Given the description of an element on the screen output the (x, y) to click on. 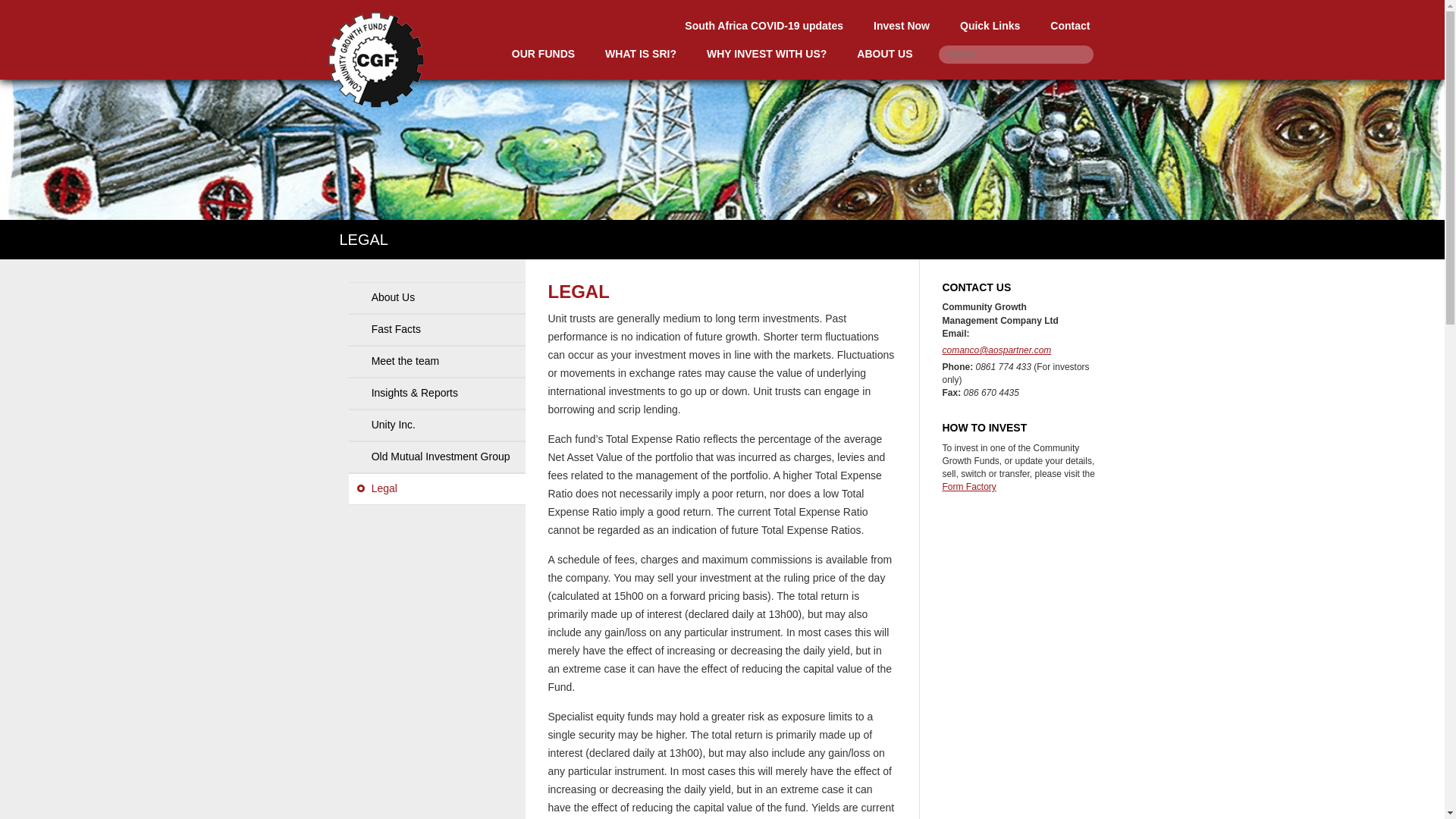
Quick Links (989, 25)
Contact (1070, 25)
Our Funds (542, 53)
Contact (1070, 25)
WHAT IS SRI? (640, 53)
Invest Now (901, 25)
What is SRI? (640, 53)
South Africa COVID-19 updates (764, 25)
Why invest with us? (766, 53)
South Africa COVID-19 updates (764, 25)
Fast Facts (437, 329)
Quick Links (989, 25)
About Us (437, 297)
WHY INVEST WITH US? (766, 53)
ABOUT US (884, 53)
